Given the description of an element on the screen output the (x, y) to click on. 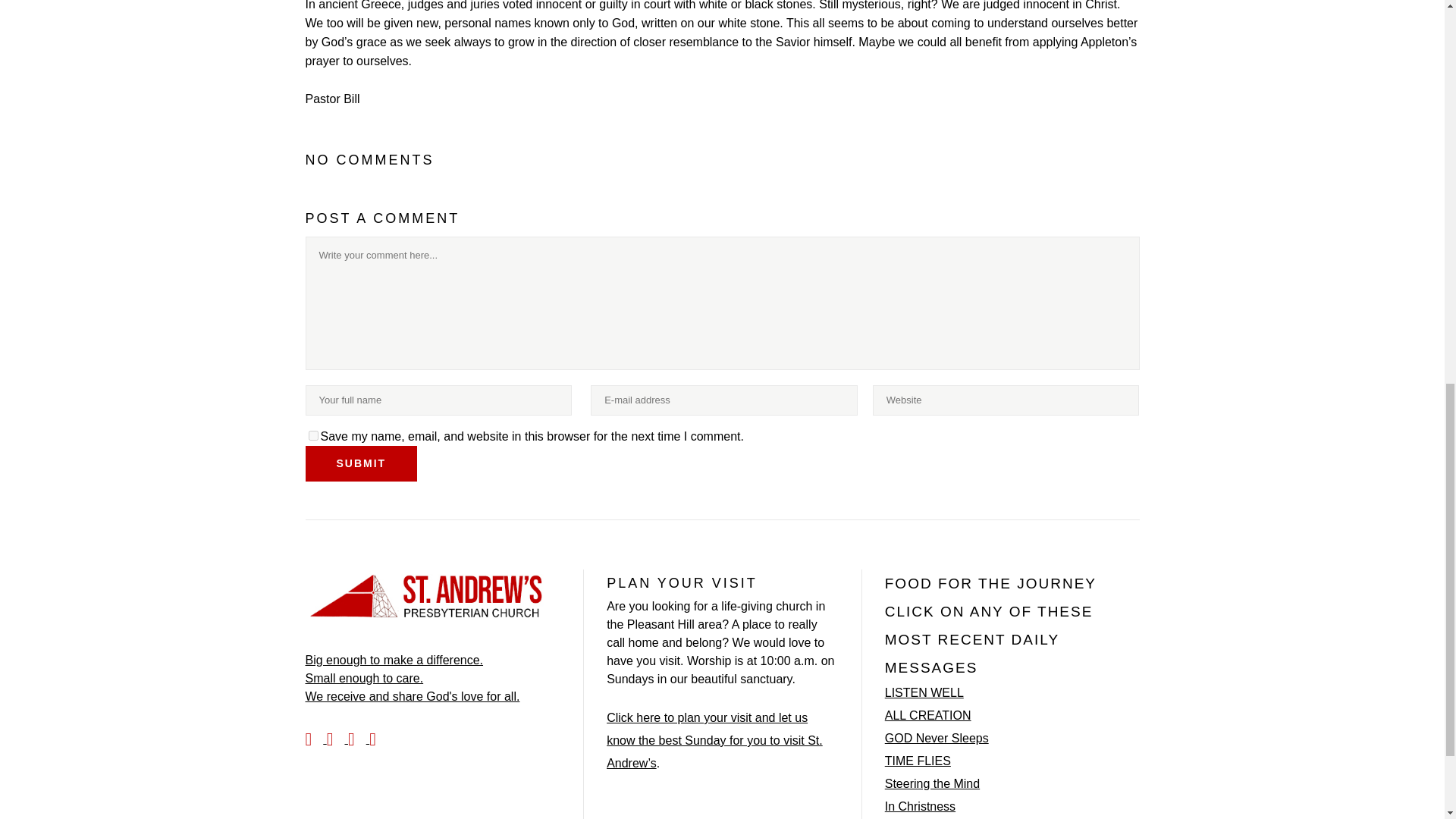
Steering the Mind (932, 784)
Submit (360, 463)
LISTEN WELL (924, 692)
Submit (360, 463)
TIME FLIES (917, 761)
GOD Never Sleeps (936, 738)
ALL CREATION (928, 715)
yes (312, 435)
In Christness (920, 806)
